Given the description of an element on the screen output the (x, y) to click on. 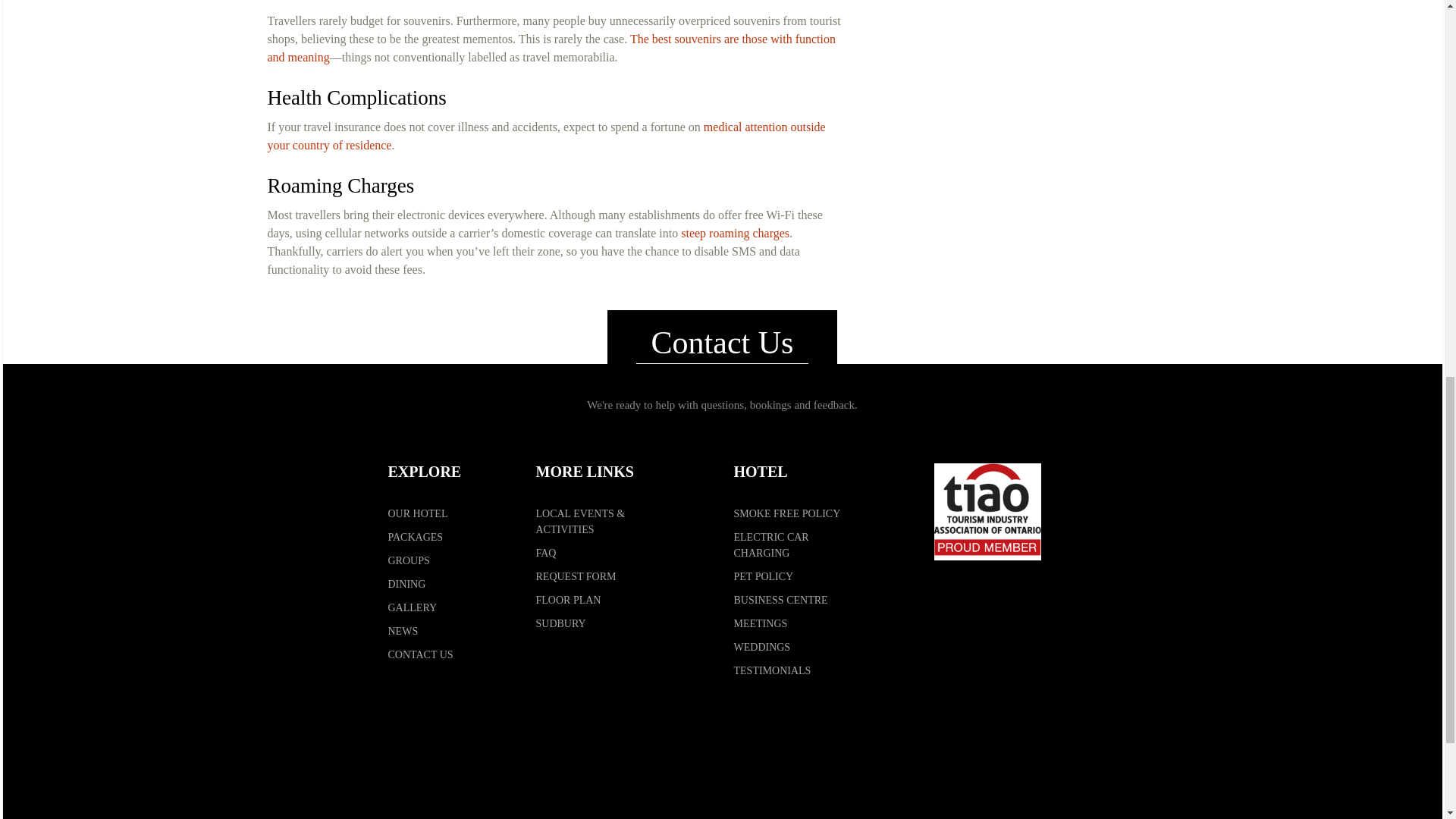
steep roaming charges (735, 232)
The best souvenirs are those with function and meaning (550, 47)
medical attention outside your country of residence (545, 135)
